Given the description of an element on the screen output the (x, y) to click on. 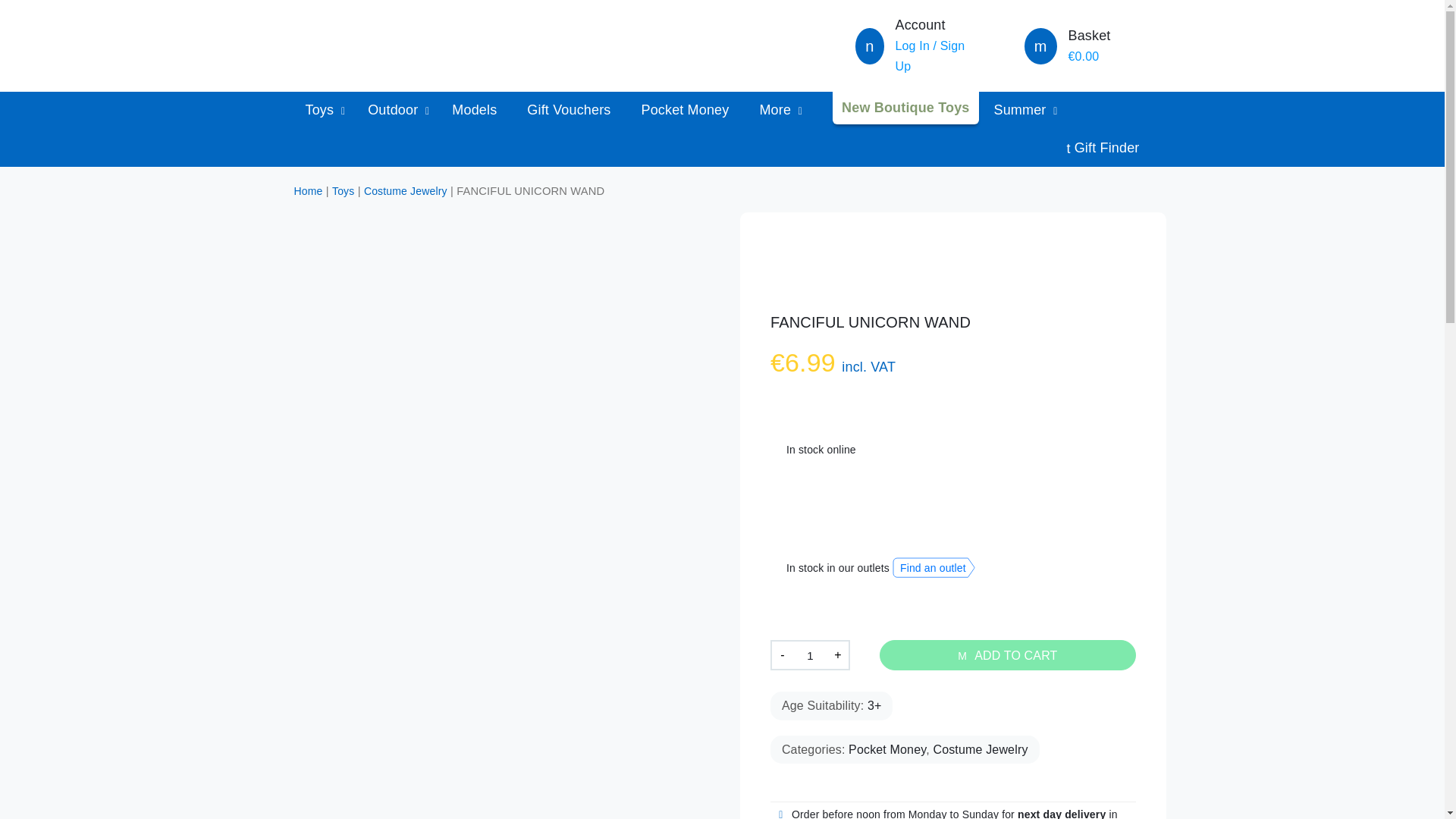
Outdoor (394, 109)
Qty (810, 654)
n (869, 47)
1 (810, 654)
Find an outlet (933, 567)
Toys (320, 109)
m (1041, 47)
